Given the description of an element on the screen output the (x, y) to click on. 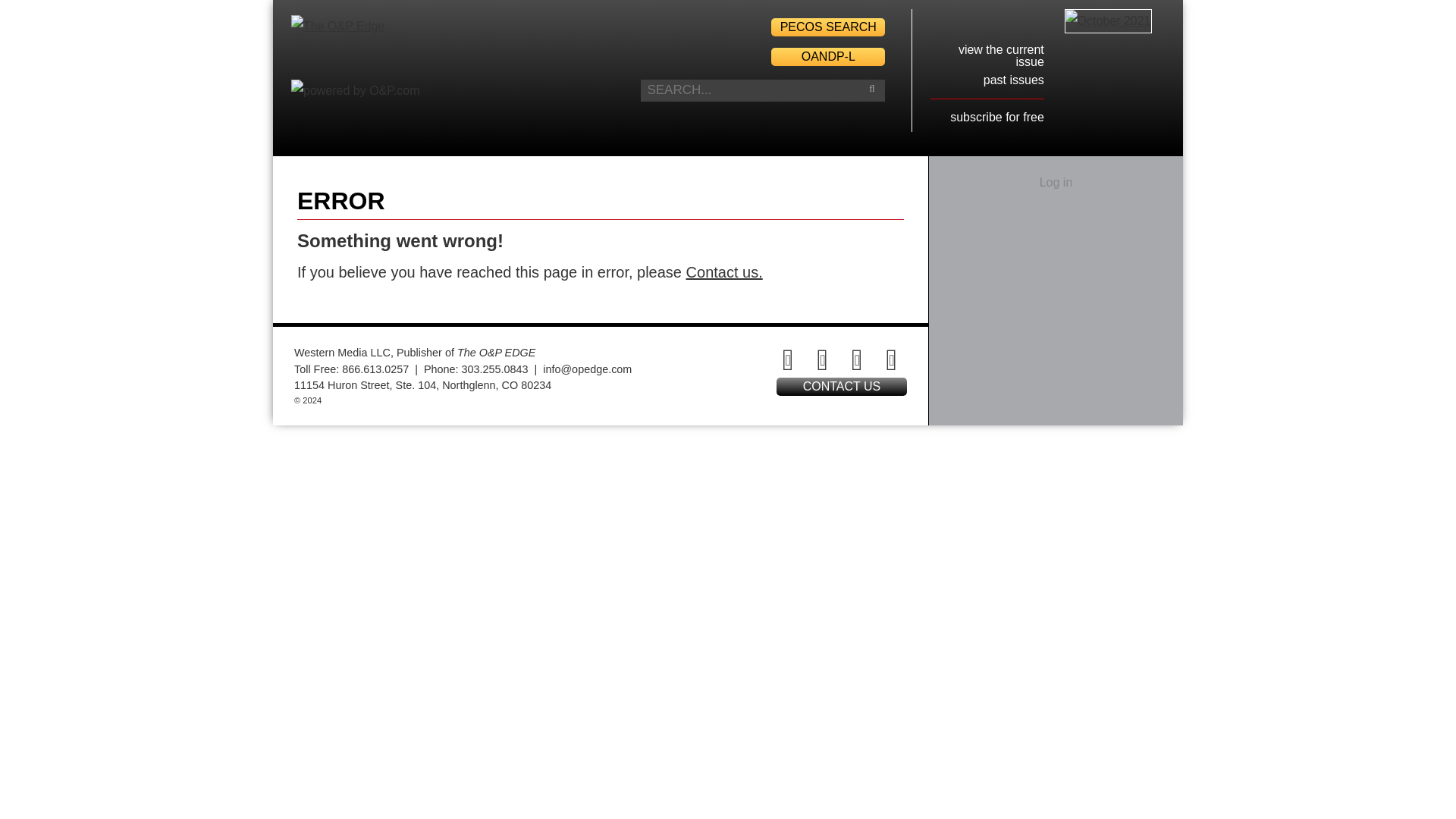
search (872, 88)
Contact us. (723, 271)
subscribe for free (996, 116)
view the current issue (1000, 55)
October 2021 (1107, 21)
PECOS SEARCH (828, 27)
Twitter (823, 359)
Facebook (788, 359)
LinkedIn (856, 359)
past issues (1013, 79)
